Given the description of an element on the screen output the (x, y) to click on. 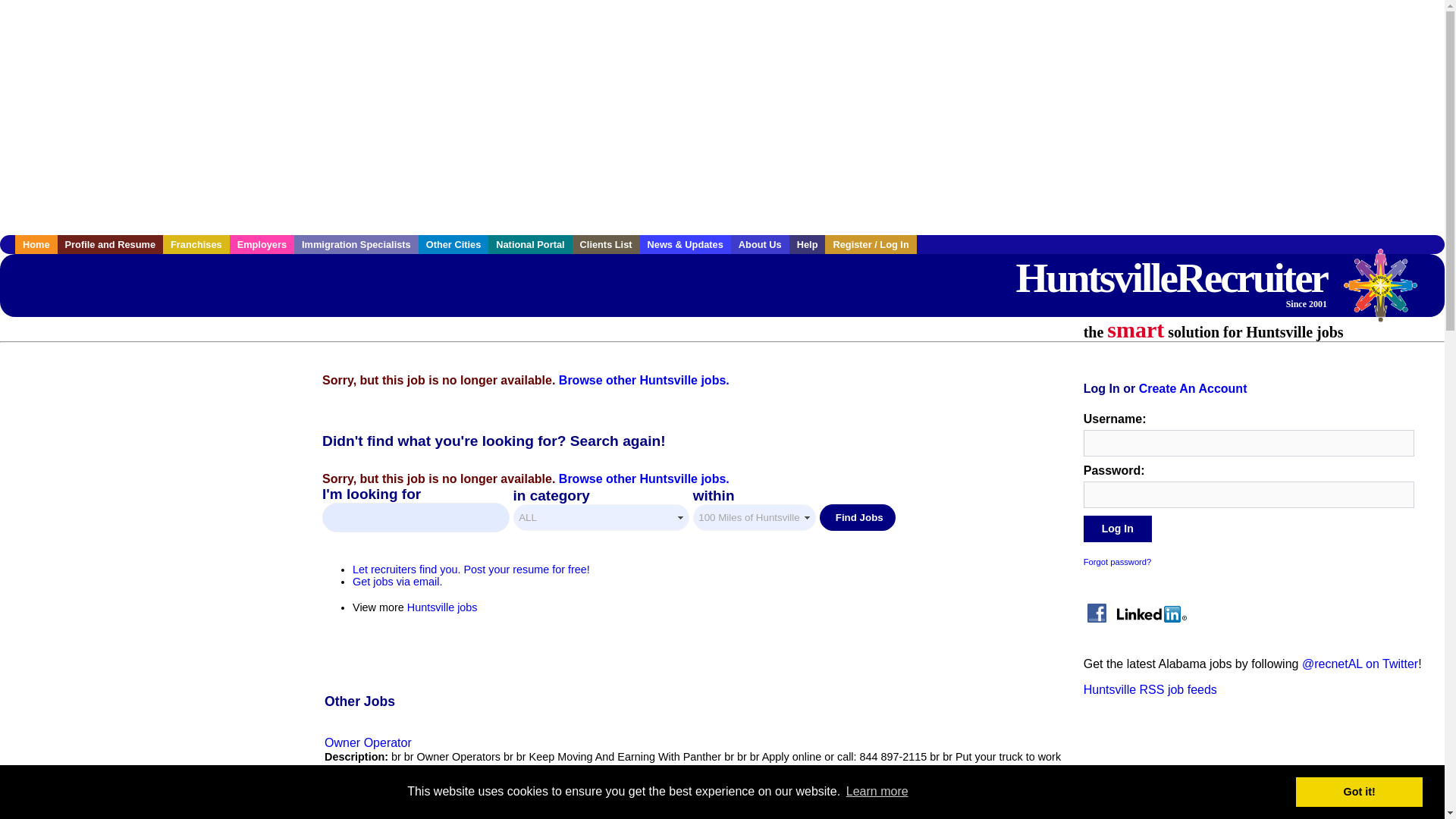
Other Recruiter Networks Cities (454, 244)
About Us (759, 244)
Huntsville  help (807, 244)
Find Jobs (857, 517)
Immigration Specialists (356, 244)
Huntsville  home (36, 244)
Create An Account (1192, 388)
Get  jobs via email (397, 581)
Get jobs via email. (397, 581)
Let recruiters find you. Post your resume for free! (470, 569)
Employers (262, 244)
Log In (1117, 528)
Help (807, 244)
Advertisement (153, 463)
Post your  resume for free! (470, 569)
